Given the description of an element on the screen output the (x, y) to click on. 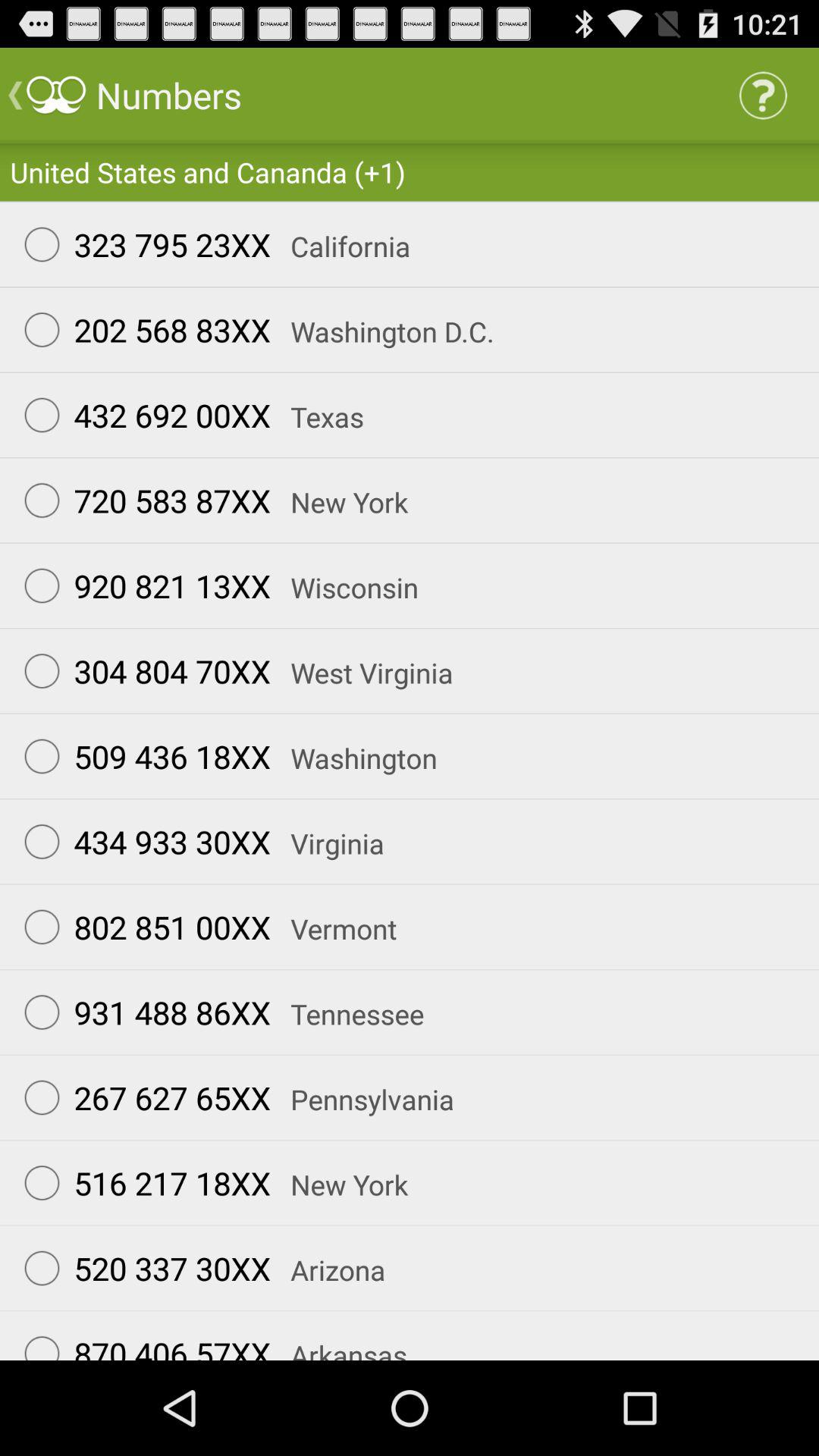
press item below 516 217 18xx icon (140, 1268)
